Given the description of an element on the screen output the (x, y) to click on. 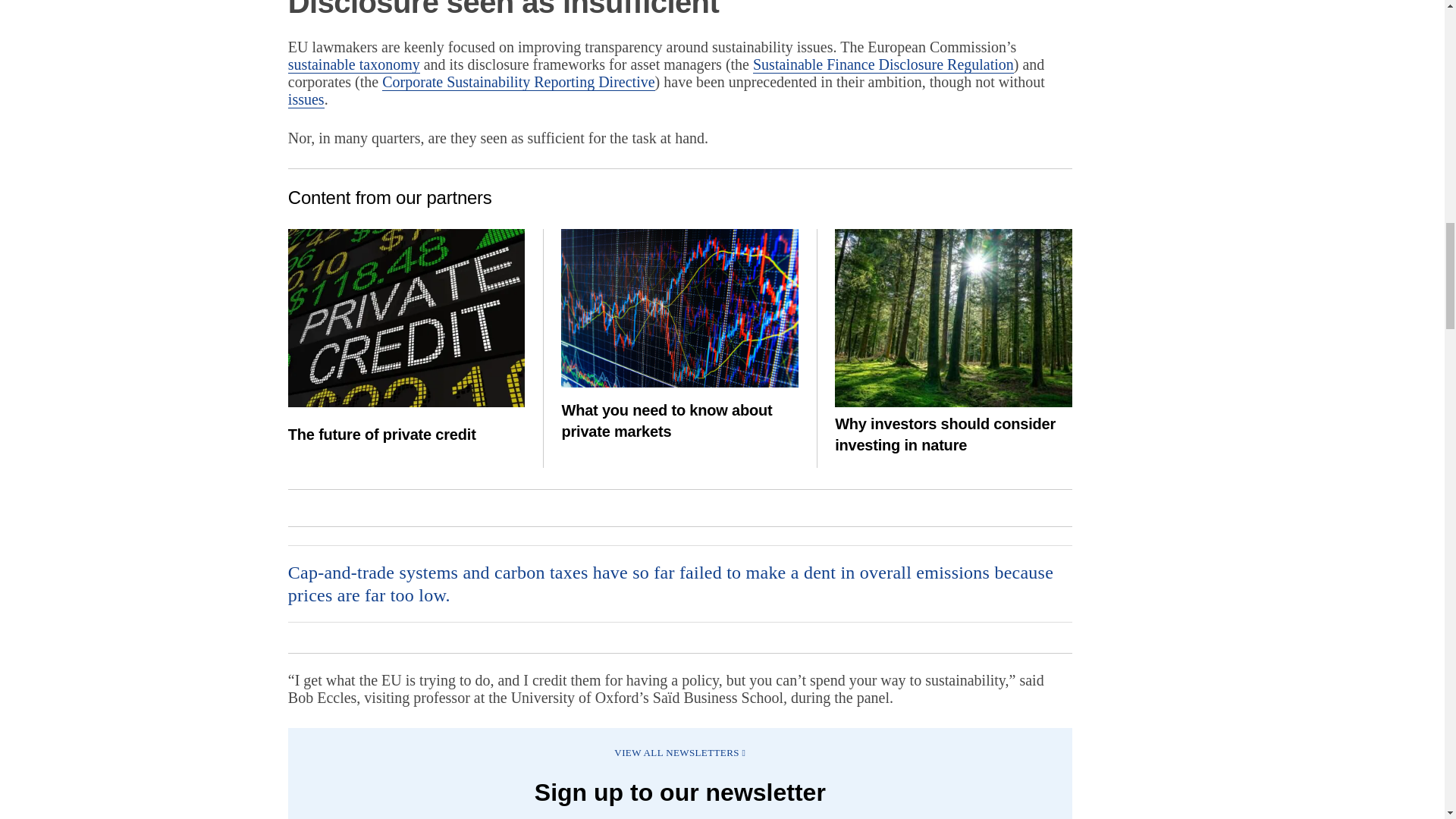
Why investors should consider investing in nature (952, 317)
The future of private credit (406, 317)
